Given the description of an element on the screen output the (x, y) to click on. 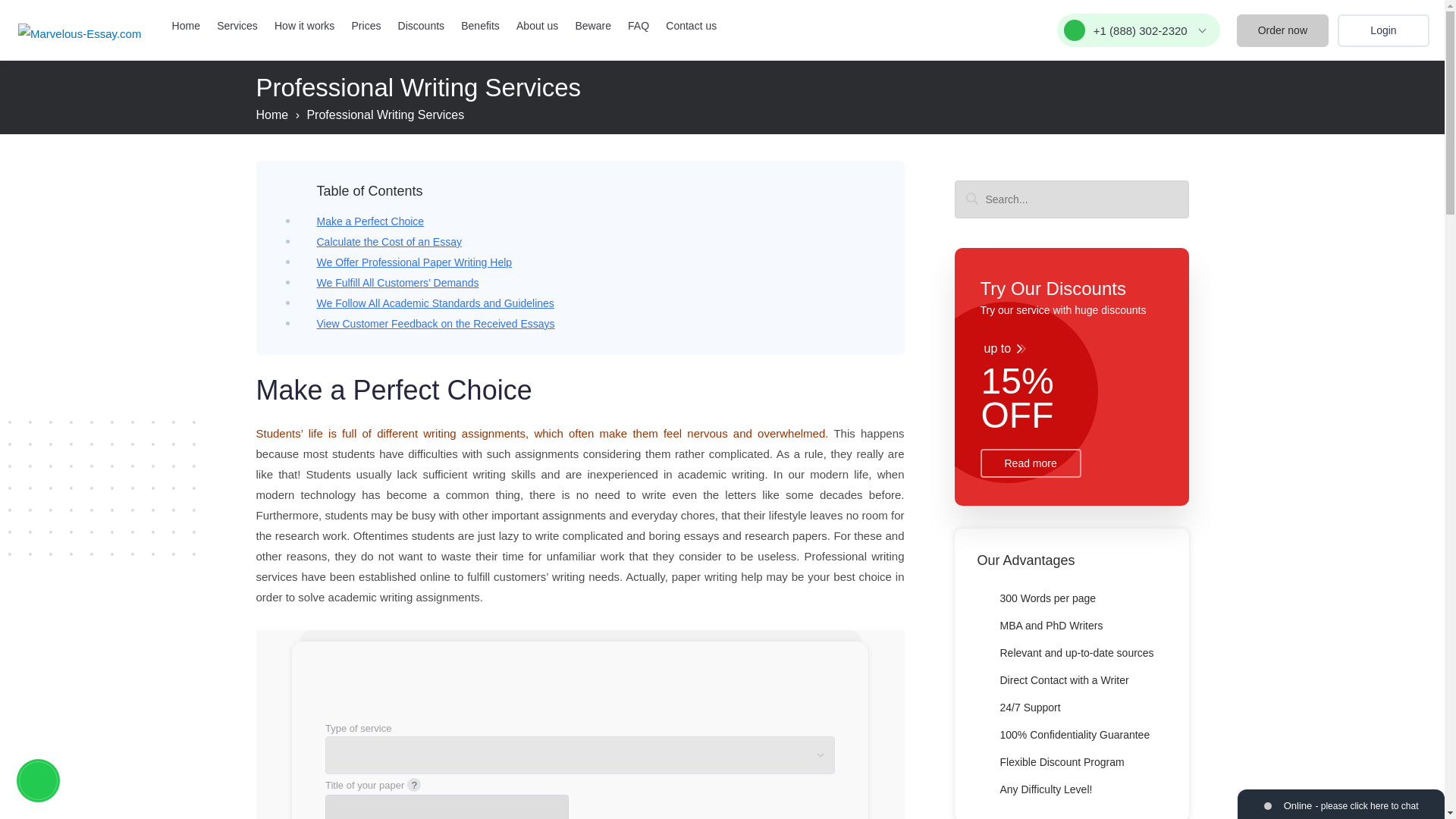
How it works (304, 25)
Services (236, 25)
Home (185, 25)
About us (536, 25)
Discounts (420, 25)
Prices (366, 25)
Beware (592, 25)
Order now (1281, 29)
FAQ (638, 25)
Contact us (690, 25)
